Given the description of an element on the screen output the (x, y) to click on. 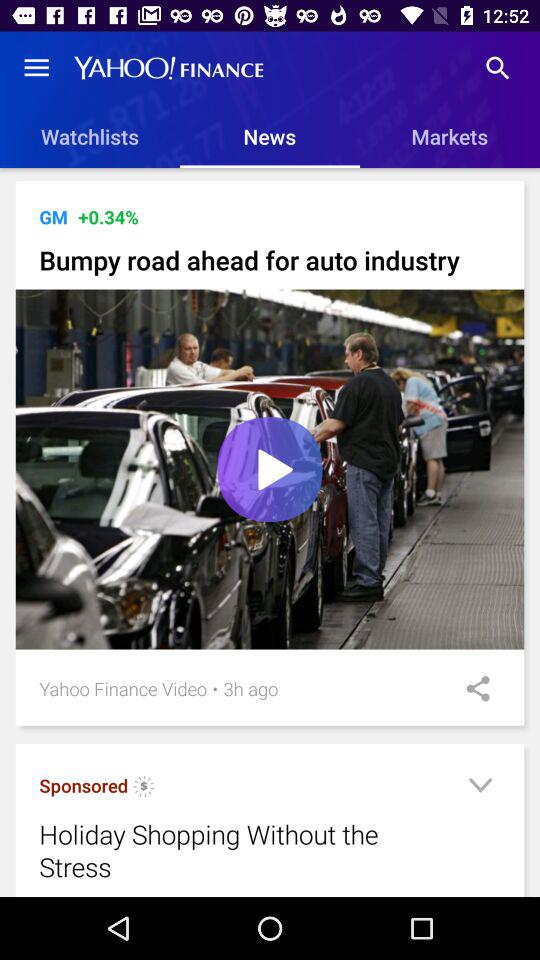
shows down icon (480, 788)
